Given the description of an element on the screen output the (x, y) to click on. 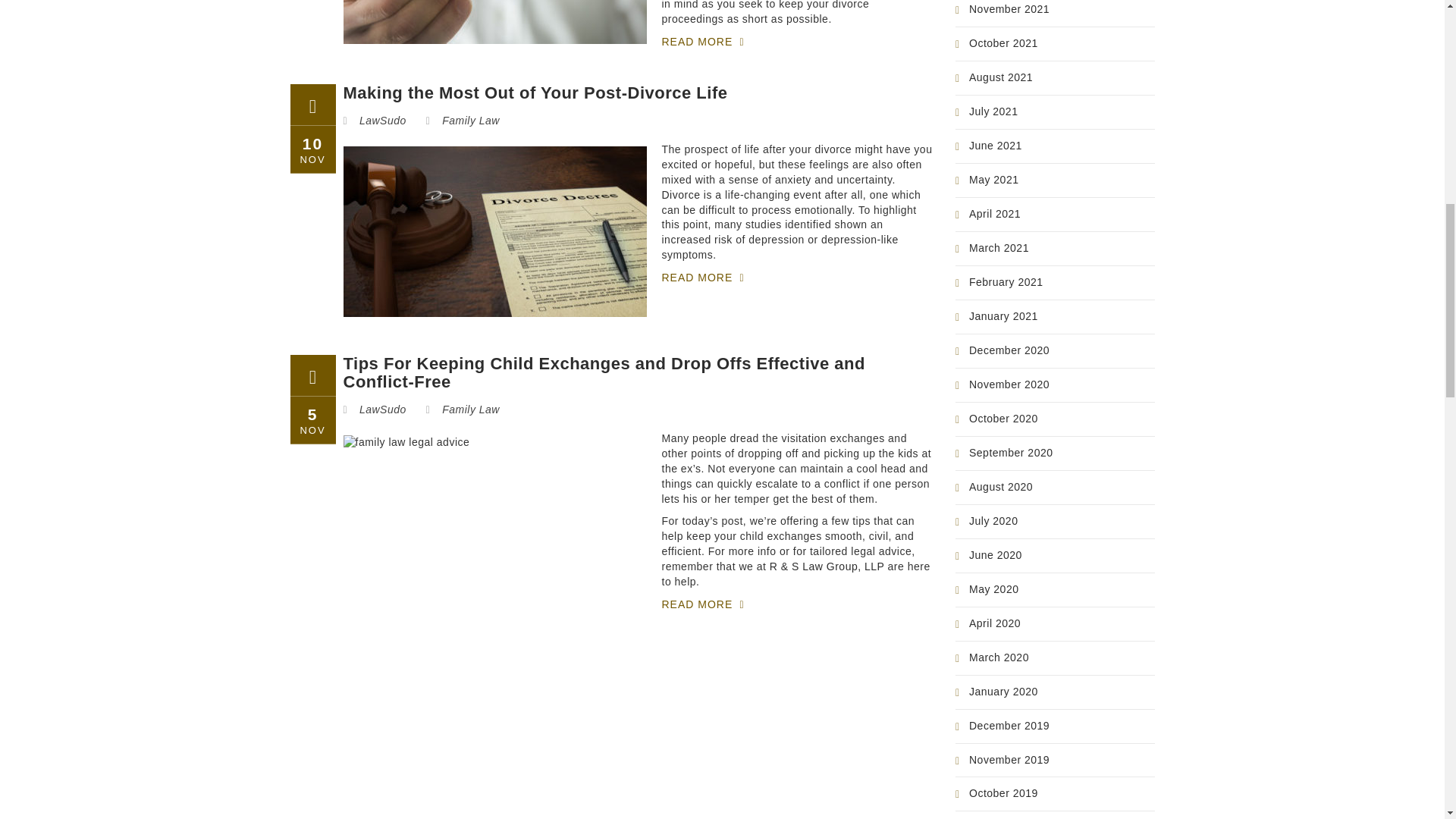
View all posts by LawSudo (382, 120)
Making the Most Out of Your Post-Divorce Life (534, 92)
View all posts by LawSudo (382, 409)
READ MORE (712, 42)
LawSudo (382, 120)
Family Law (470, 120)
